Given the description of an element on the screen output the (x, y) to click on. 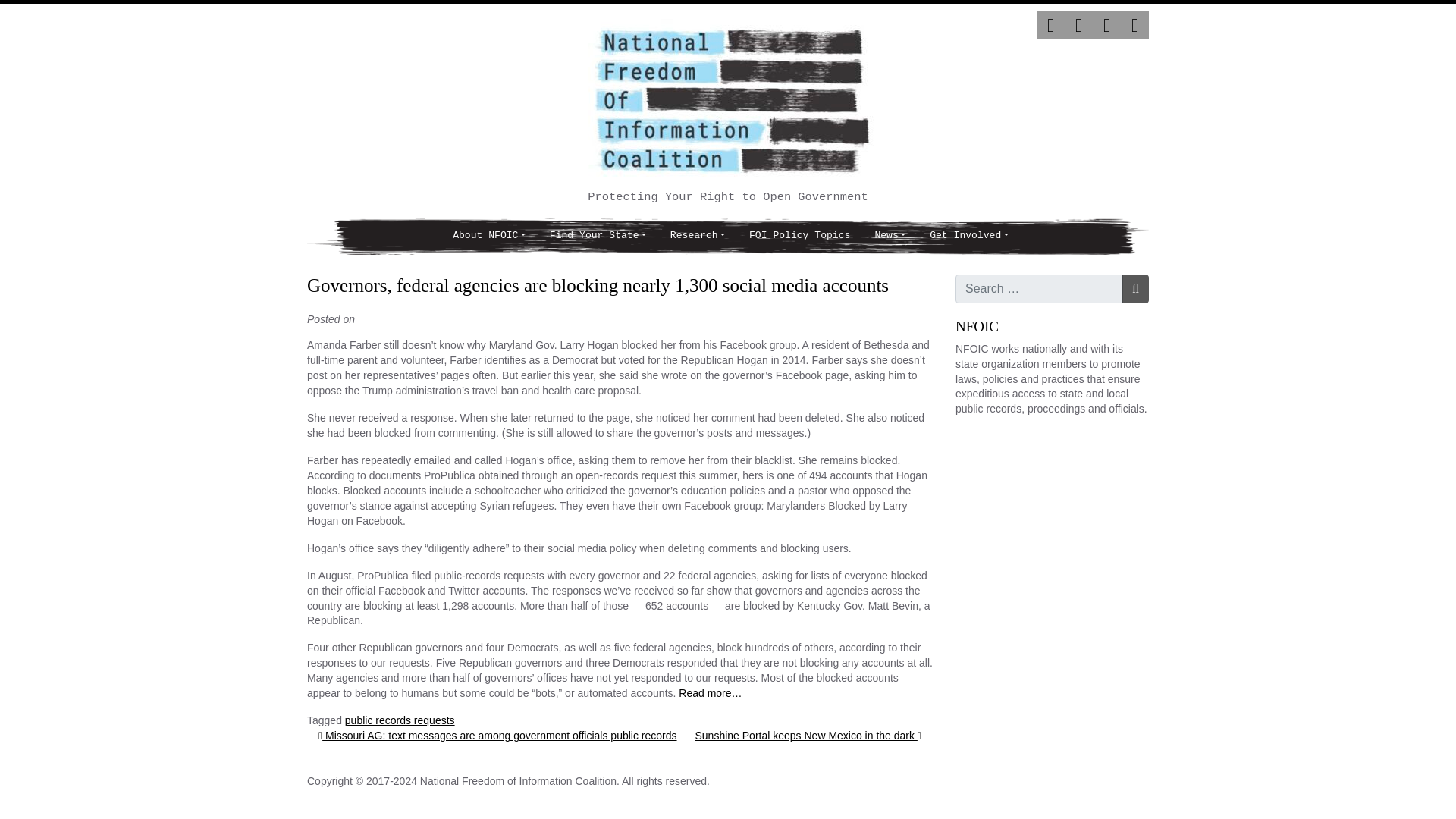
Get Involved (968, 235)
Facebook (1078, 25)
public records requests (399, 720)
News (889, 235)
YouTube (1134, 25)
About NFOIC (489, 235)
About NFOIC (489, 235)
Twitter (1050, 25)
FOI Policy Topics (798, 235)
